Given the description of an element on the screen output the (x, y) to click on. 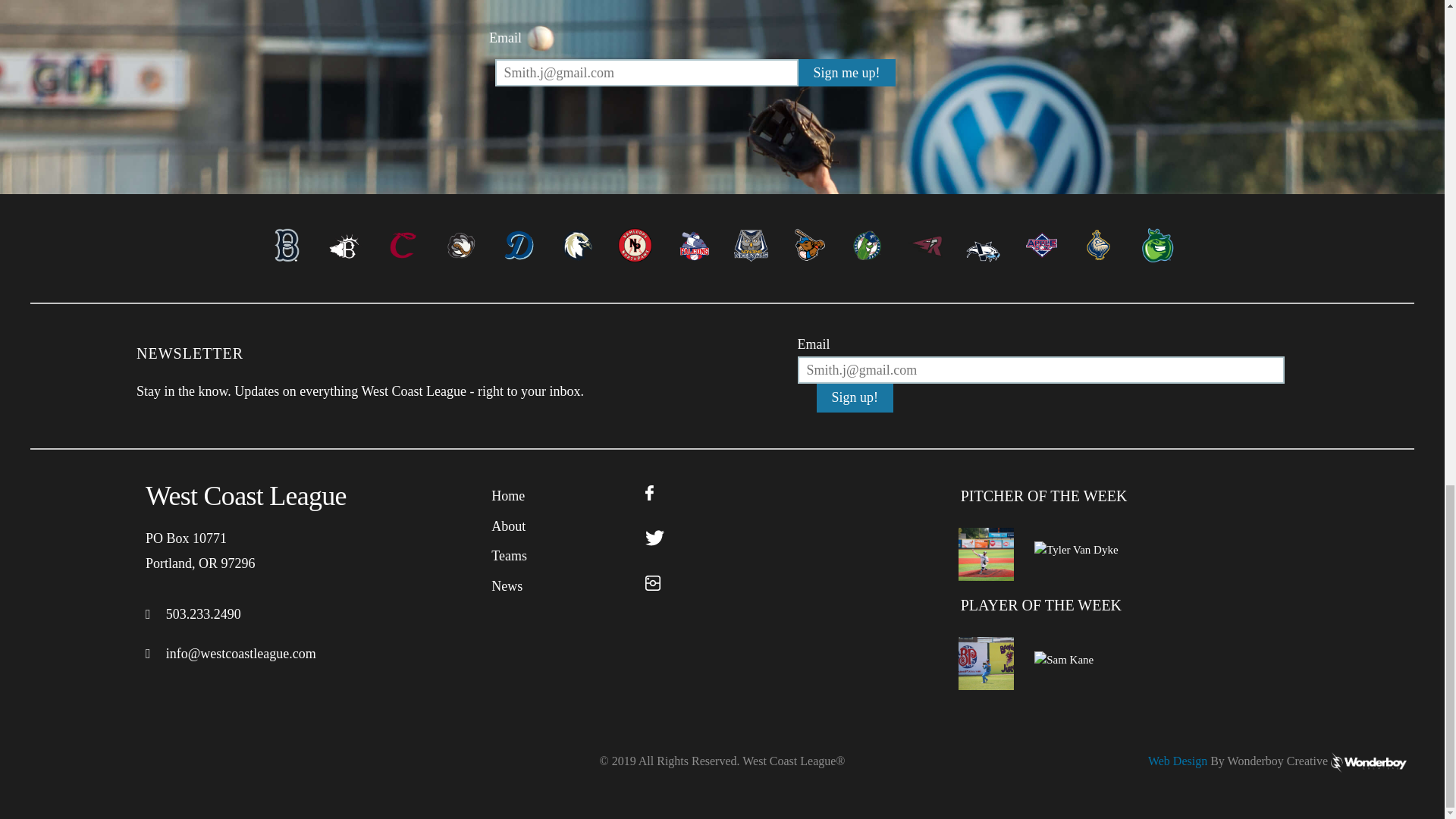
Sign up! (854, 398)
Sign me up! (846, 72)
